Given the description of an element on the screen output the (x, y) to click on. 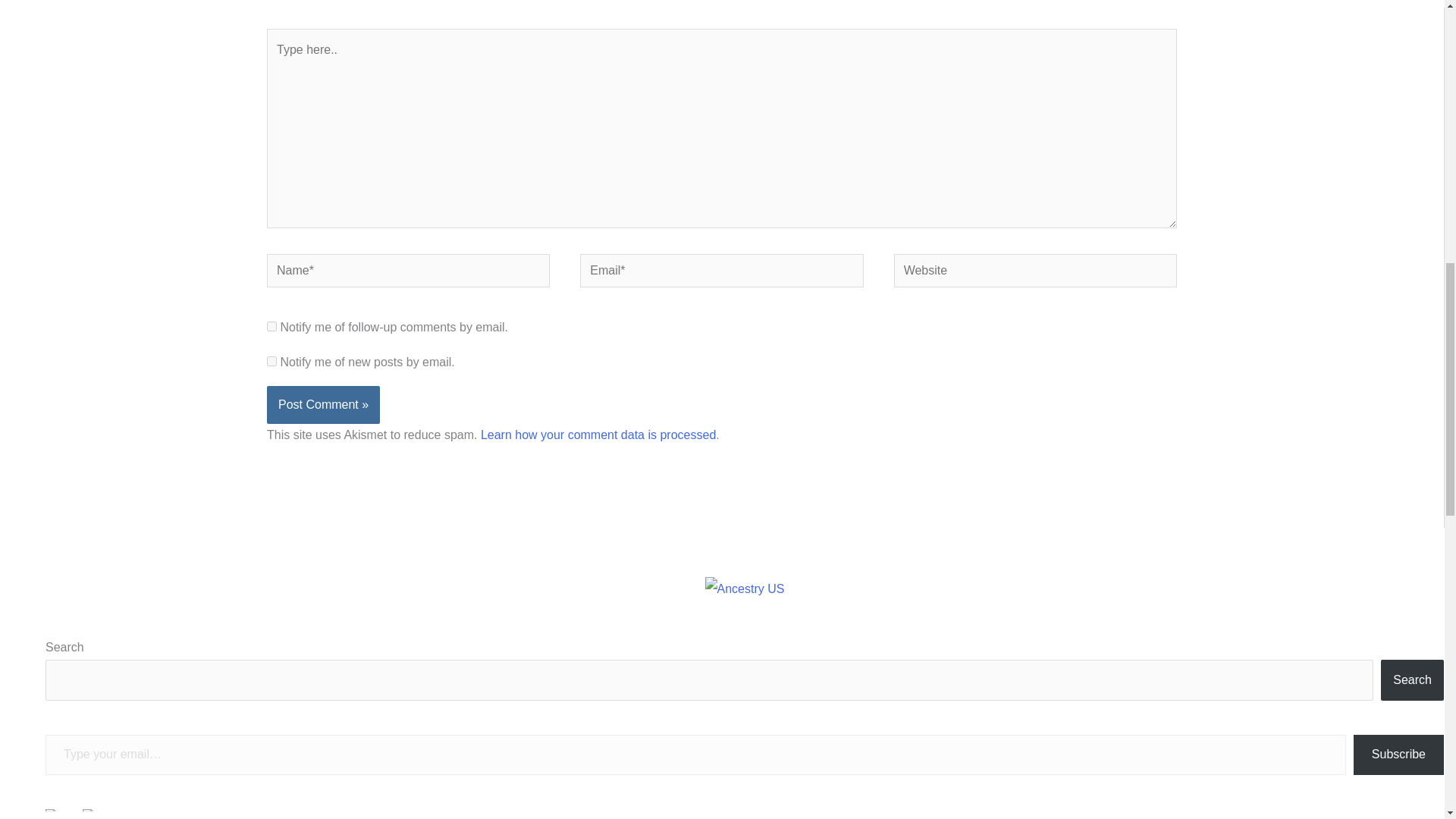
subscribe (271, 326)
Search (1412, 680)
Learn how your comment data is processed (598, 434)
subscribe (271, 361)
Subscribe (1399, 754)
Please fill in this field. (695, 754)
